Given the description of an element on the screen output the (x, y) to click on. 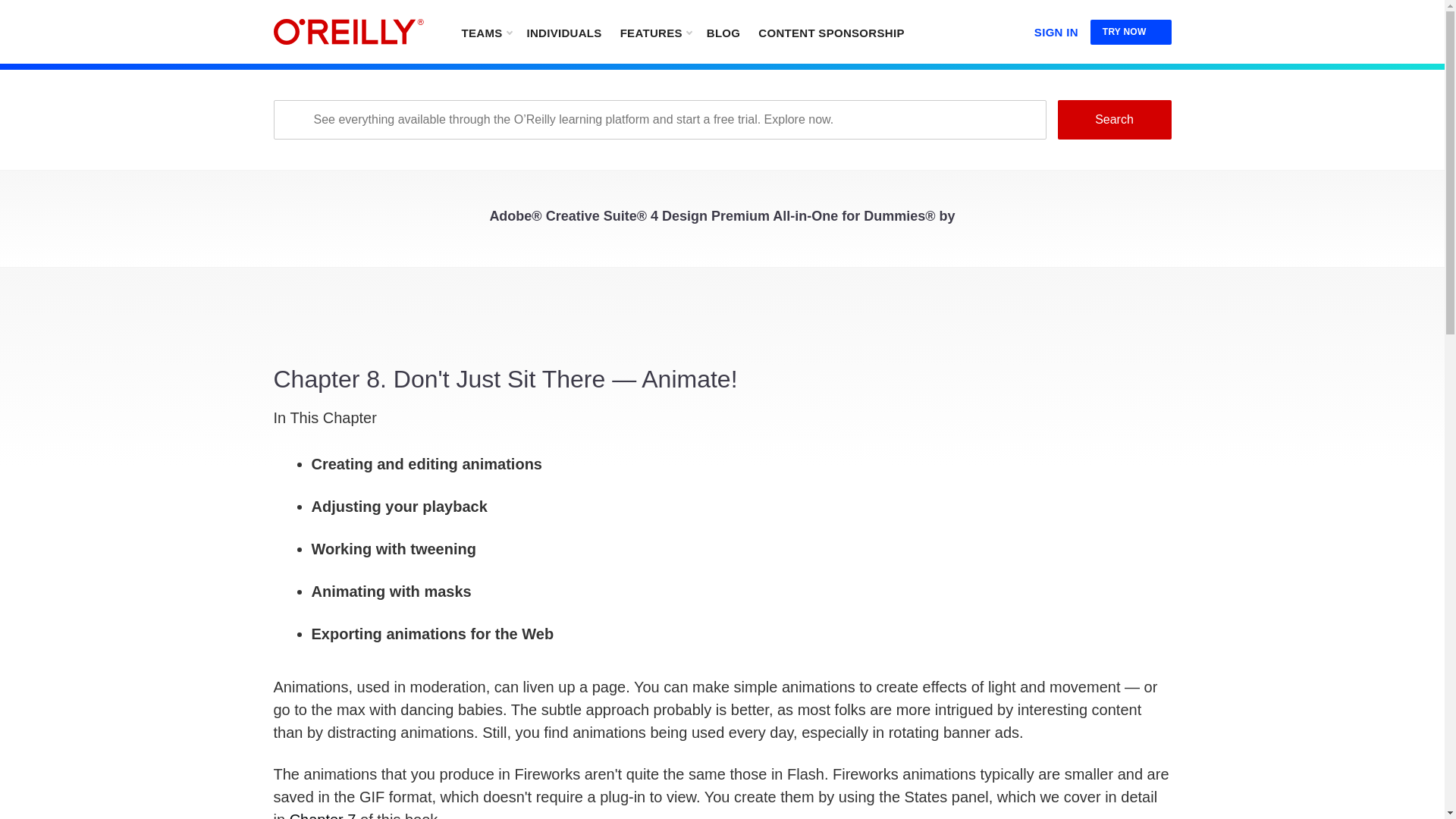
CONTENT SPONSORSHIP (831, 31)
Search (1113, 119)
home page (348, 31)
FEATURES (655, 31)
Search (1113, 119)
Chapter 7 (322, 815)
TEAMS (486, 31)
TRY NOW (1131, 32)
BLOG (723, 31)
